Given the description of an element on the screen output the (x, y) to click on. 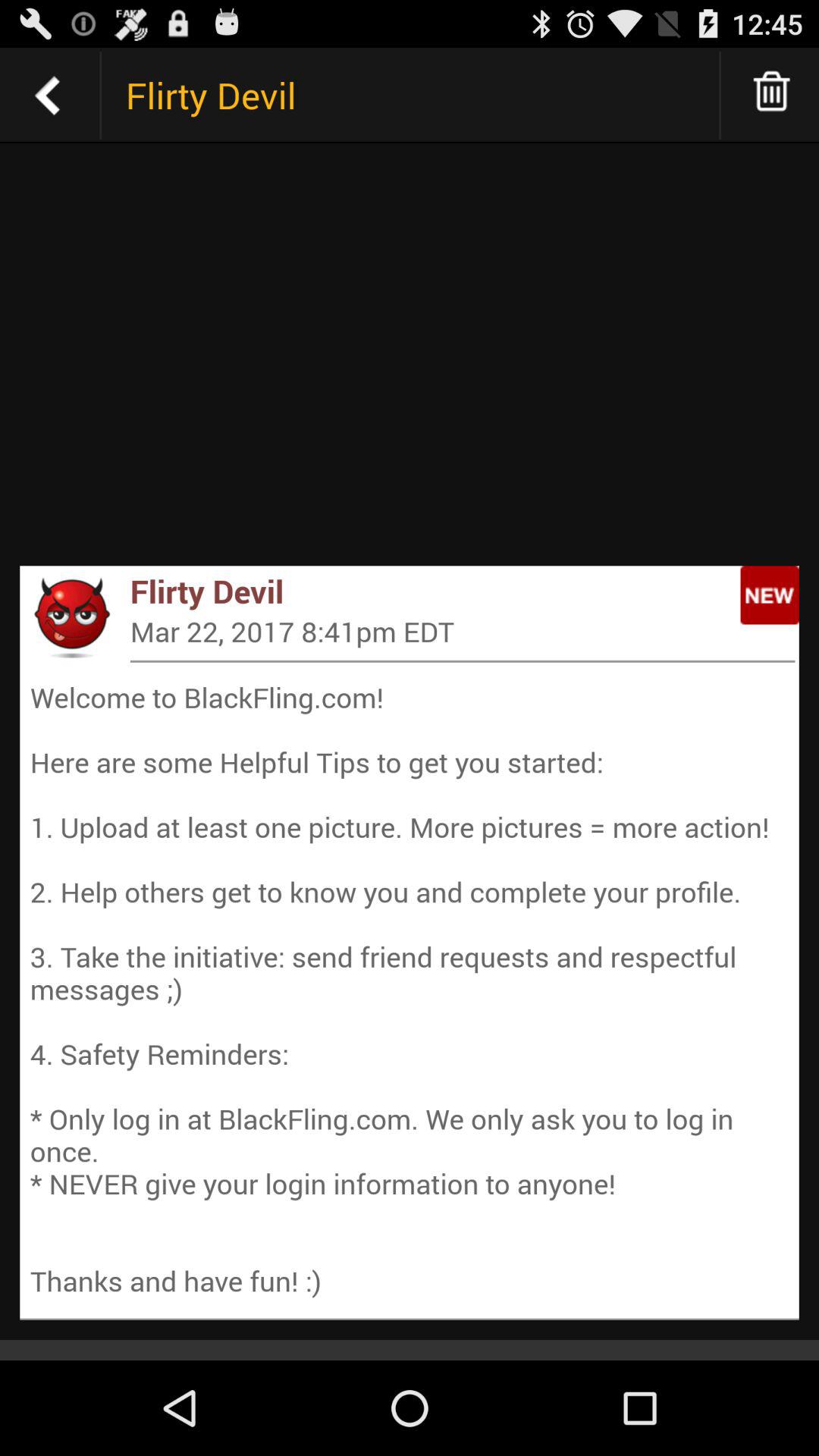
tap the item above the welcome to blackfling (71, 617)
